Given the description of an element on the screen output the (x, y) to click on. 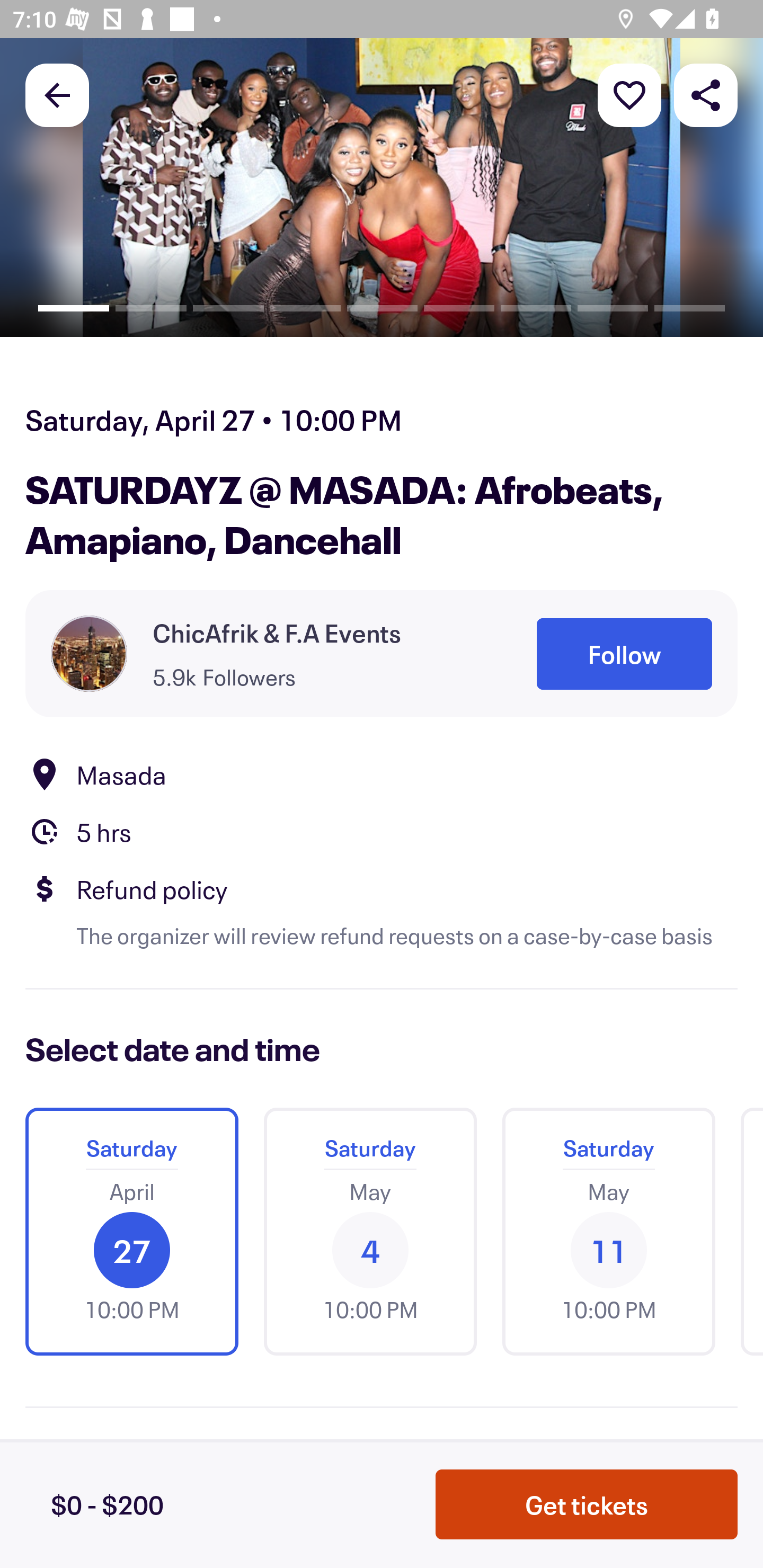
Back (57, 94)
More (629, 94)
Share (705, 94)
ChicAfrik & F.A Events (276, 632)
Organizer profile picture (89, 653)
Follow (623, 654)
Location Masada (381, 774)
Saturday April 27 10:00 PM (131, 1231)
Saturday May 4 10:00 PM (370, 1231)
Saturday May 11 10:00 PM (608, 1231)
Get tickets (586, 1504)
